Given the description of an element on the screen output the (x, y) to click on. 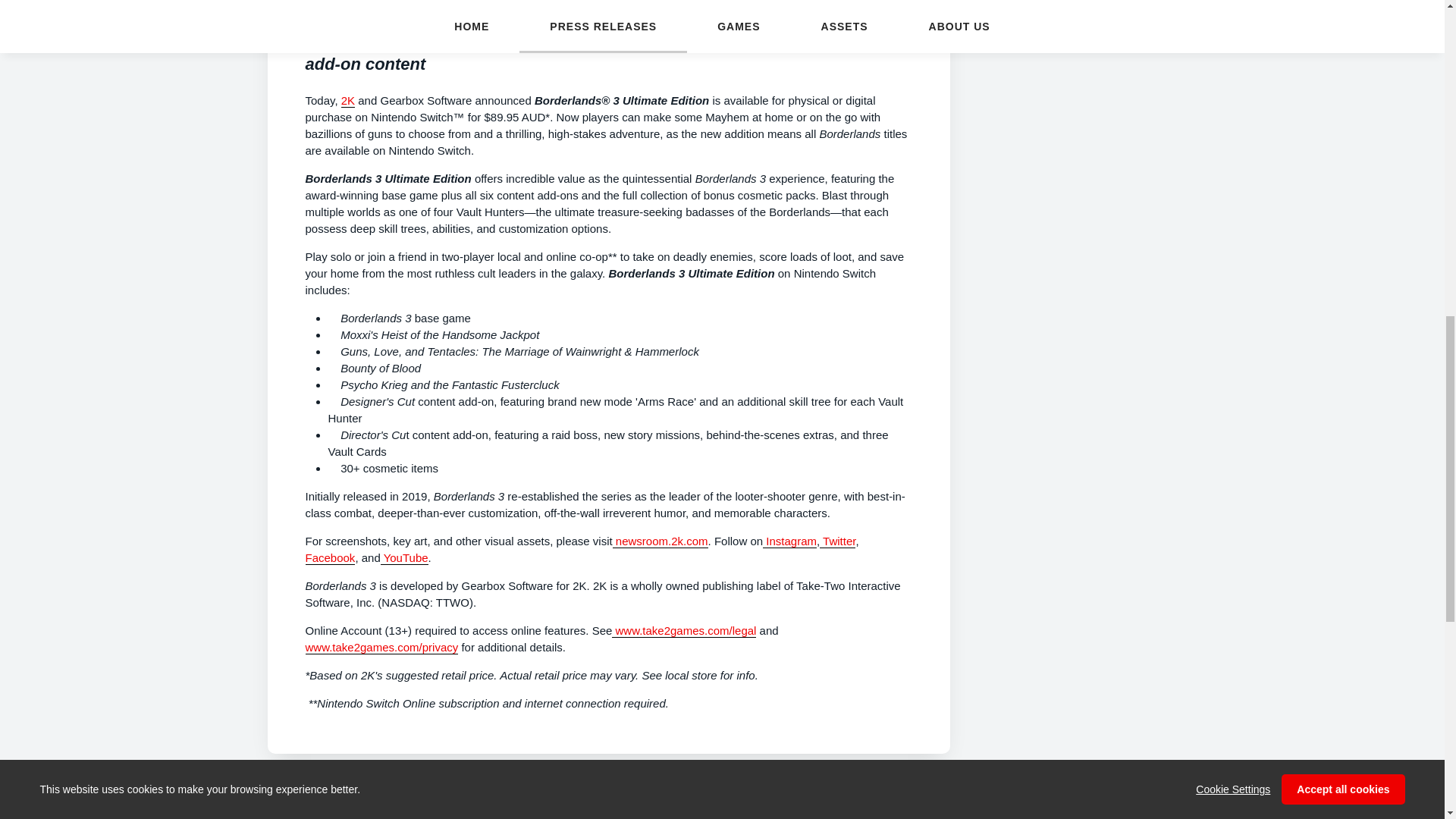
Facebook (581, 566)
newsroom.2k.com (659, 540)
Twitter (837, 540)
YouTube (404, 558)
2K (347, 100)
Instagram (789, 540)
